Given the description of an element on the screen output the (x, y) to click on. 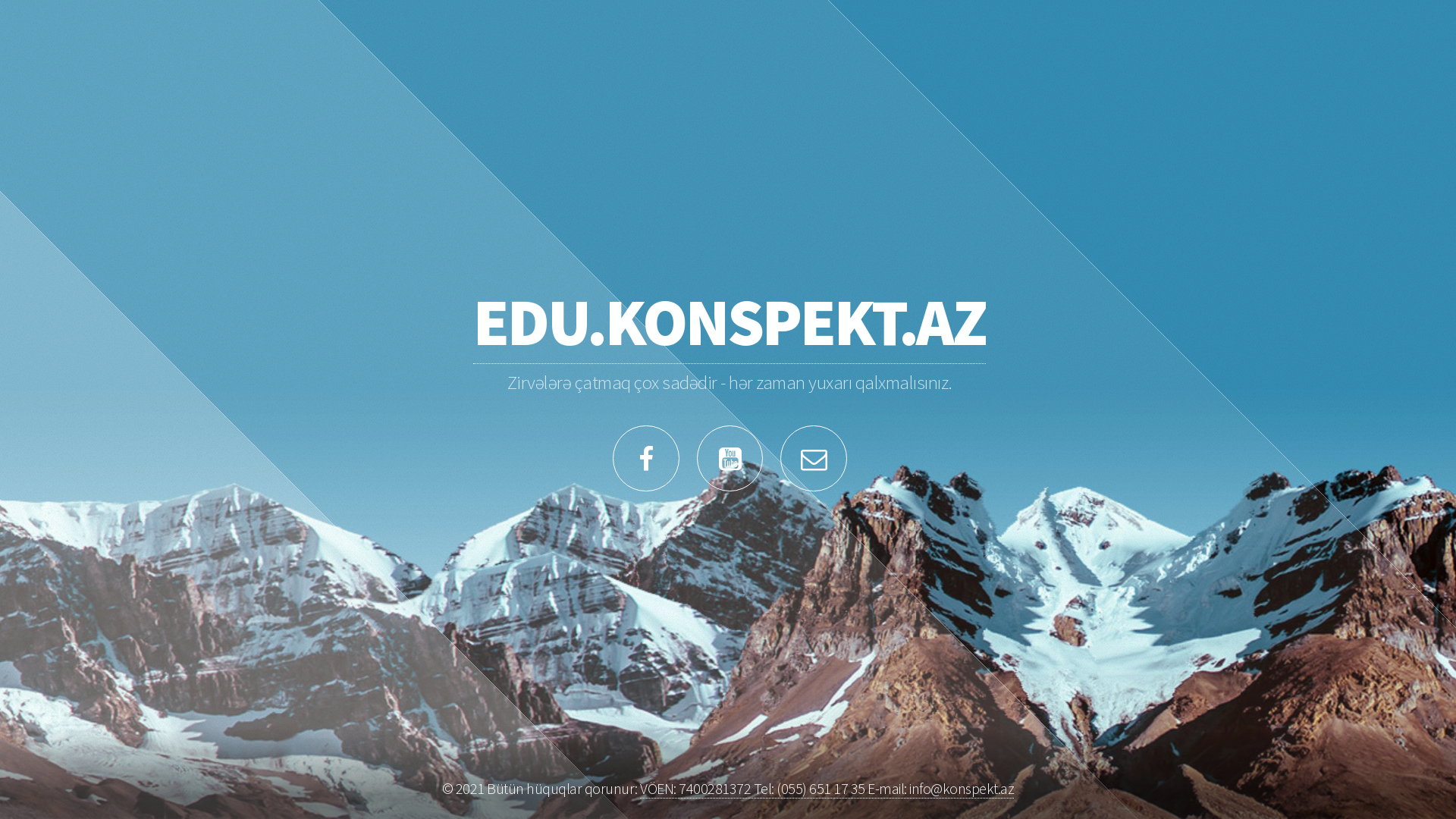
EDU.KONSPEKT.AZ Element type: text (729, 321)
